Given the description of an element on the screen output the (x, y) to click on. 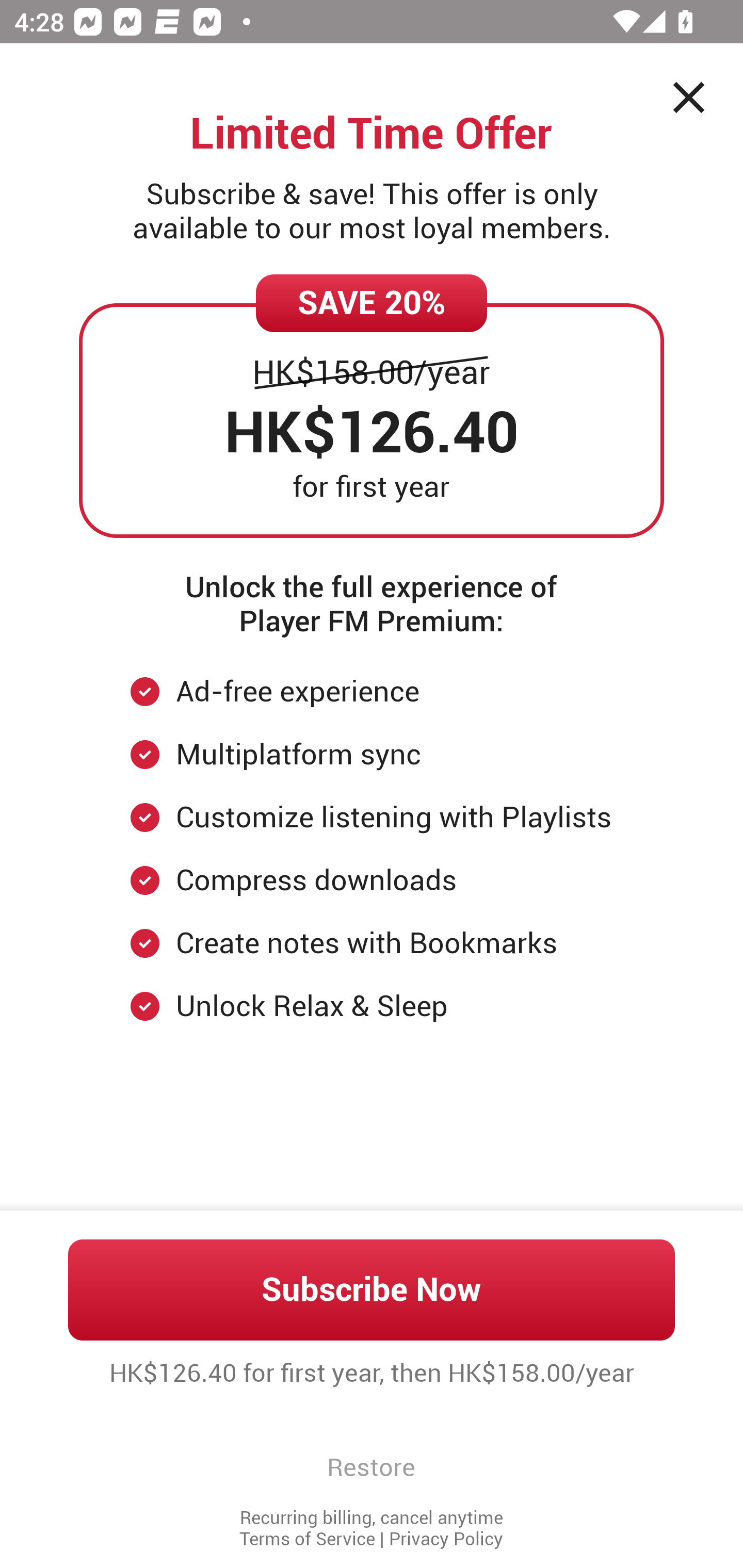
SAVE 20% (371, 303)
Subscribe Now (371, 1289)
Restore (370, 1467)
Terms of Service (307, 1538)
Privacy Policy (446, 1538)
